Given the description of an element on the screen output the (x, y) to click on. 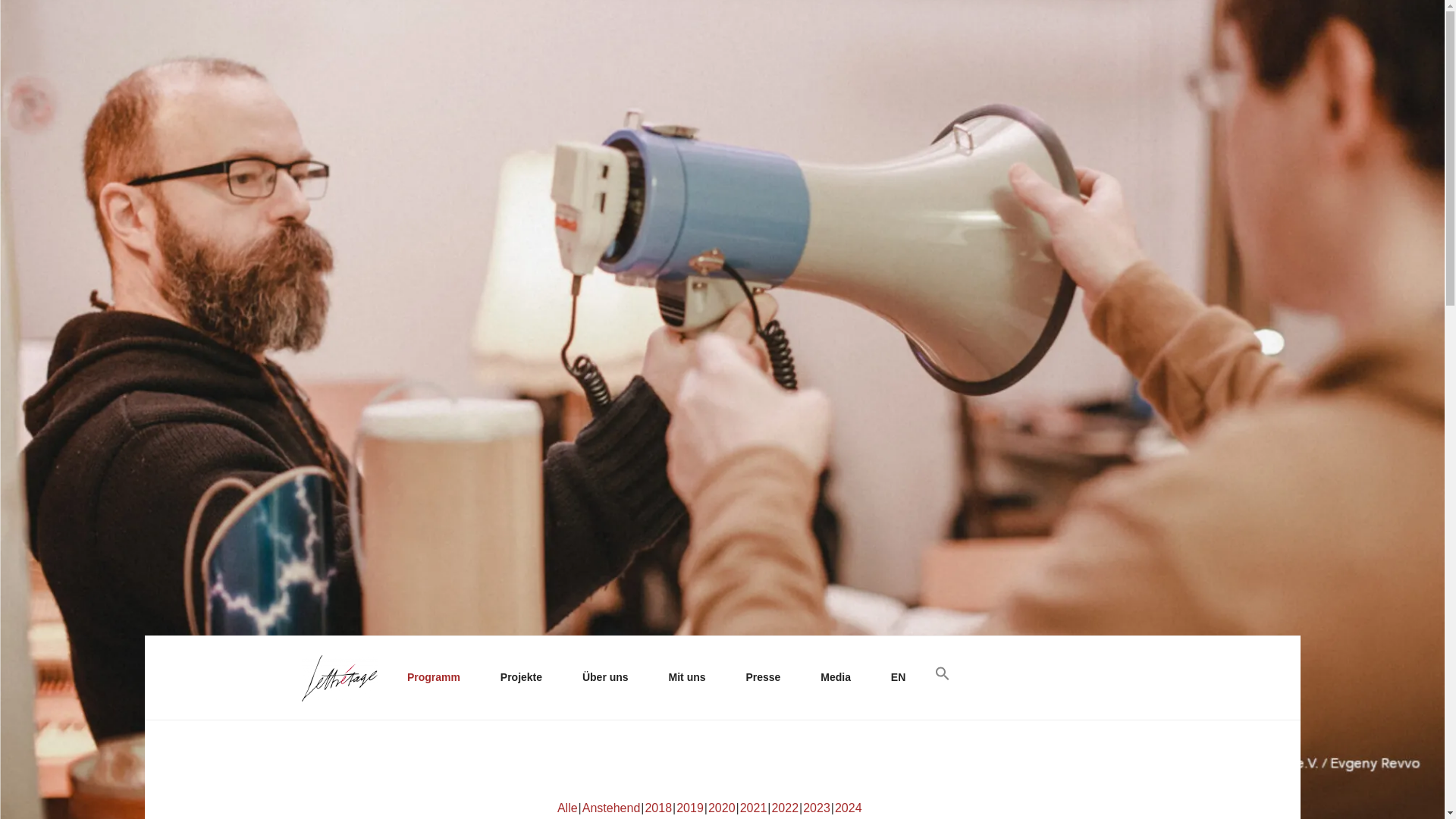
Presse (768, 677)
Programm (438, 677)
Projekte (526, 677)
Mit uns (692, 677)
